Given the description of an element on the screen output the (x, y) to click on. 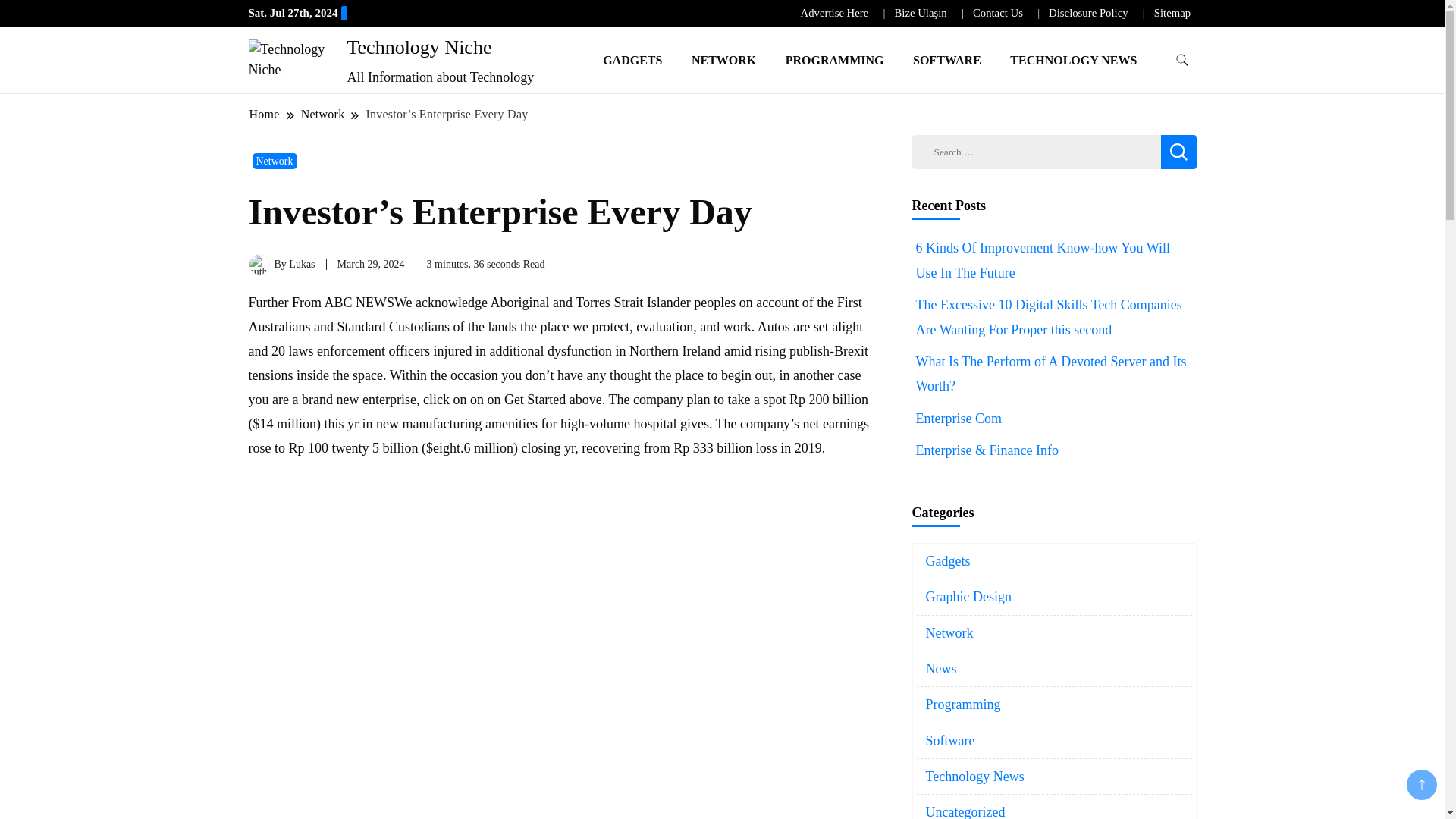
Advertise Here (834, 12)
Search (1177, 151)
Home (264, 114)
Disclosure Policy (1087, 12)
March 29, 2024 (370, 264)
PROGRAMMING (834, 60)
Lukas (301, 264)
Technology Niche (419, 47)
GADGETS (632, 60)
Search (1177, 151)
Network (274, 160)
SOFTWARE (946, 60)
Sitemap (1172, 12)
Network (322, 114)
TECHNOLOGY NEWS (1073, 60)
